Given the description of an element on the screen output the (x, y) to click on. 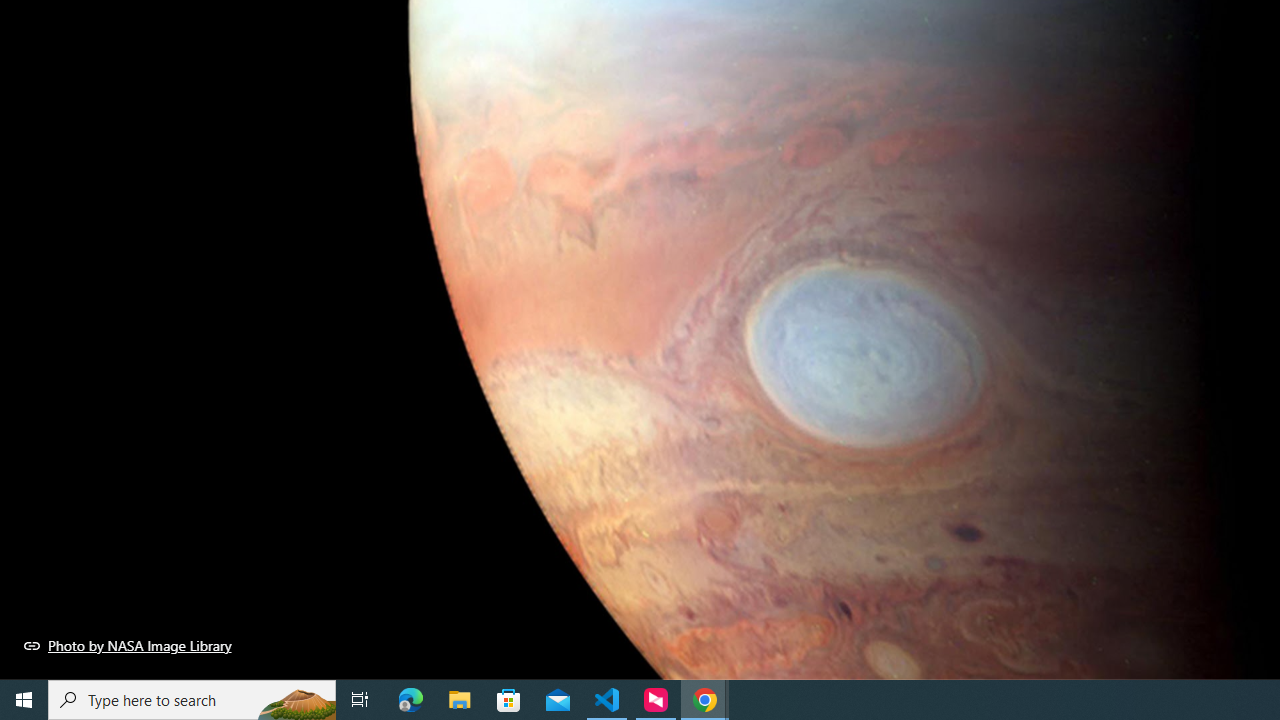
Photo by NASA Image Library (127, 645)
